Given the description of an element on the screen output the (x, y) to click on. 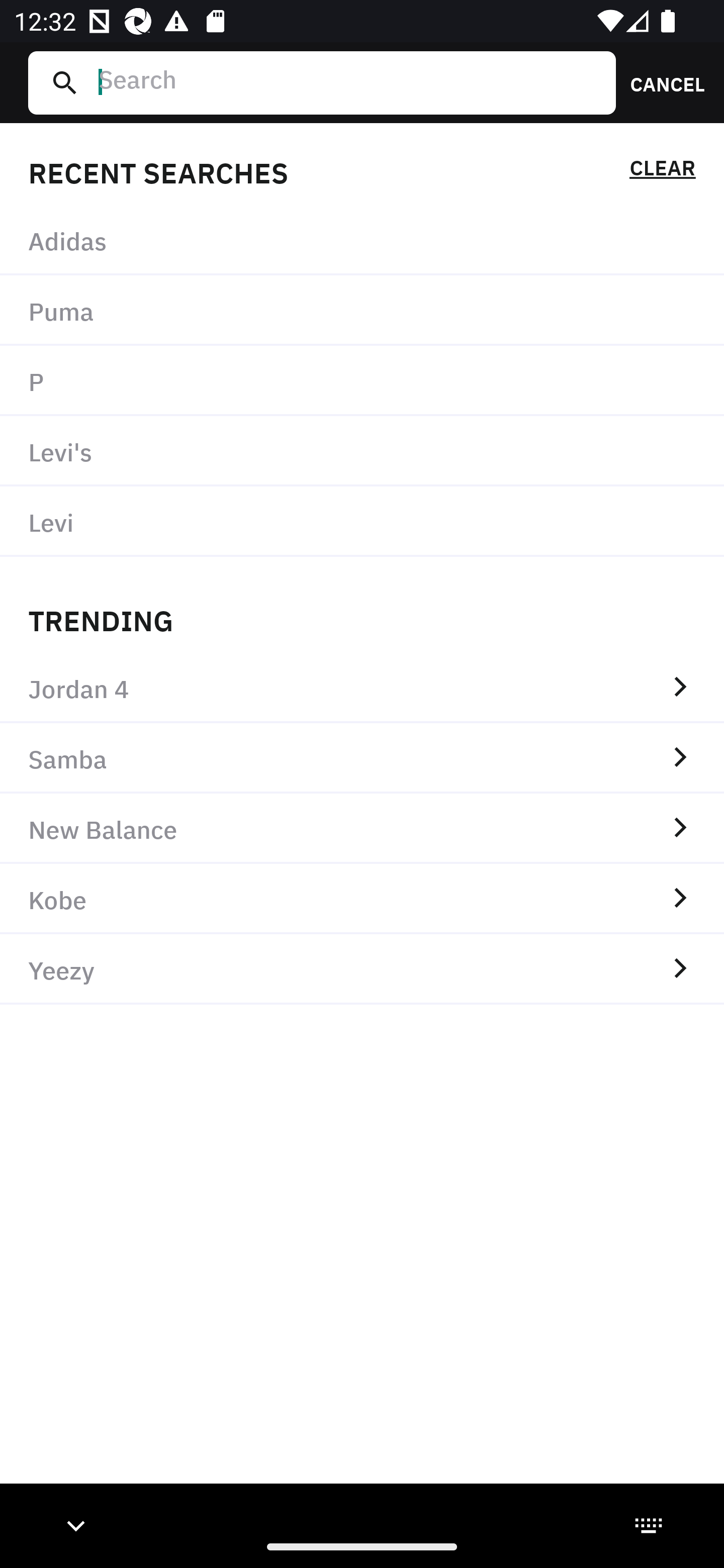
CANCEL (660, 82)
Search (349, 82)
CLEAR (662, 170)
Adidas (362, 240)
Puma (362, 310)
P (362, 380)
Levi's (362, 450)
Levi (362, 521)
Jordan 4  (362, 687)
Samba  (362, 757)
New Balance  (362, 828)
Kobe  (362, 898)
Yeezy  (362, 969)
